Given the description of an element on the screen output the (x, y) to click on. 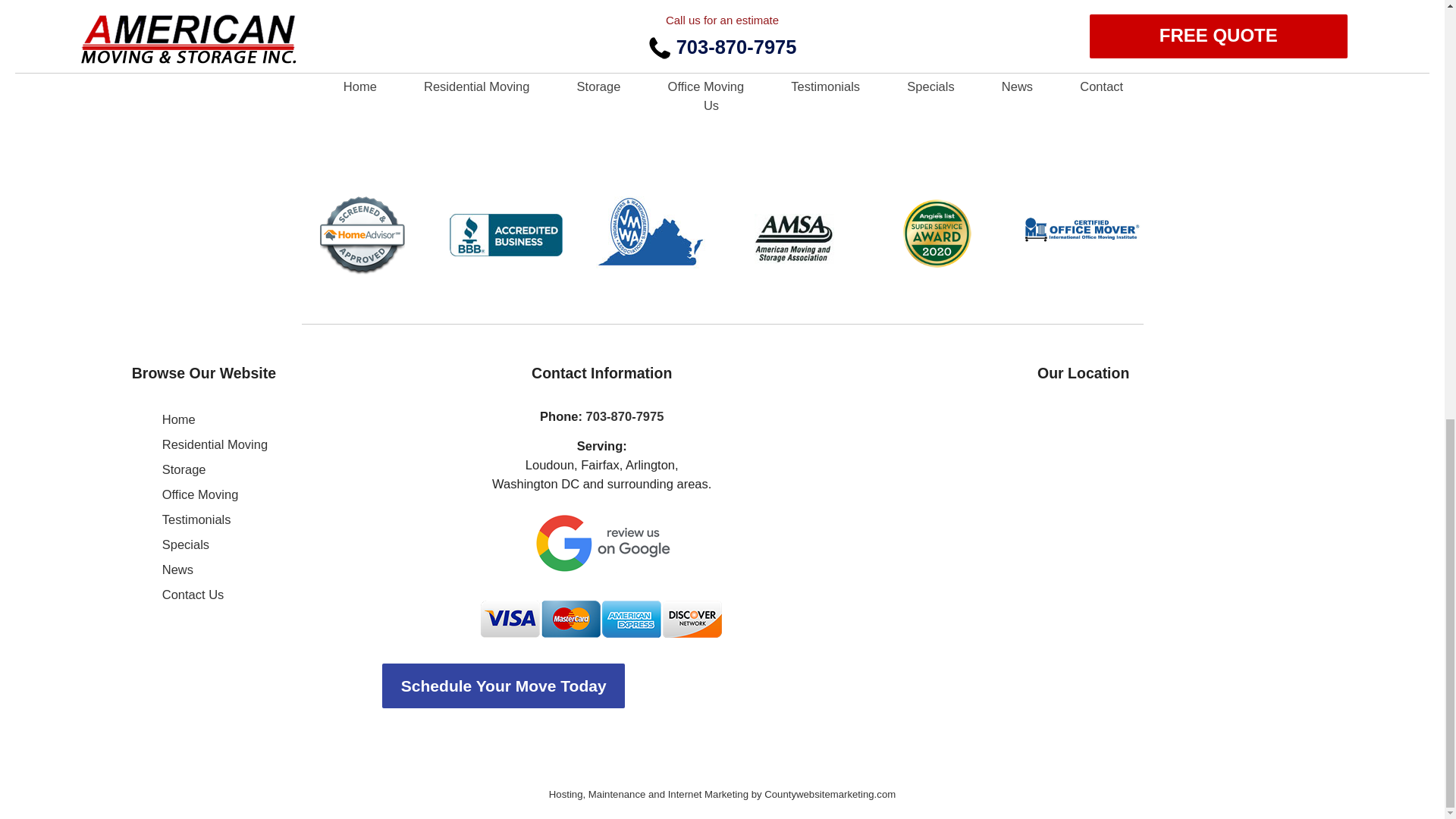
Office Moving (199, 494)
Residential Moving (214, 444)
Office Moving (199, 494)
News (177, 569)
Schedule Your Move Today (502, 686)
703-870-7975 (624, 416)
Home (178, 418)
News (177, 569)
countywebsitemarketing.com (721, 793)
Testimonials (196, 519)
Schedule Your Move Today (601, 686)
Testimonials (196, 519)
Specials (185, 544)
Contact Us (192, 594)
